Given the description of an element on the screen output the (x, y) to click on. 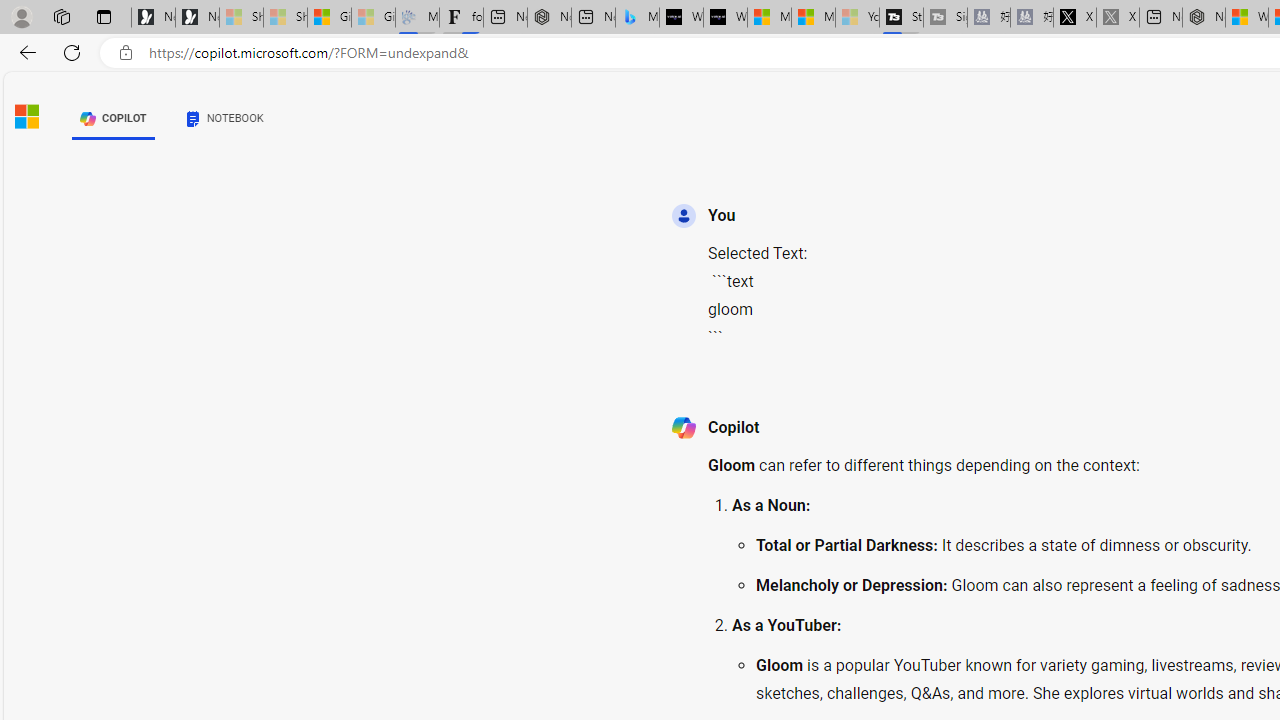
Microsoft Start Sports (769, 17)
Nordace - #1 Japanese Best-Seller - Siena Smart Backpack (548, 17)
Streaming Coverage | T3 (900, 17)
Wildlife - MSN (1247, 17)
Microsoft Bing Travel - Shangri-La Hotel Bangkok (637, 17)
What's the best AI voice generator? - voice.ai (725, 17)
COPILOT (112, 118)
